Given the description of an element on the screen output the (x, y) to click on. 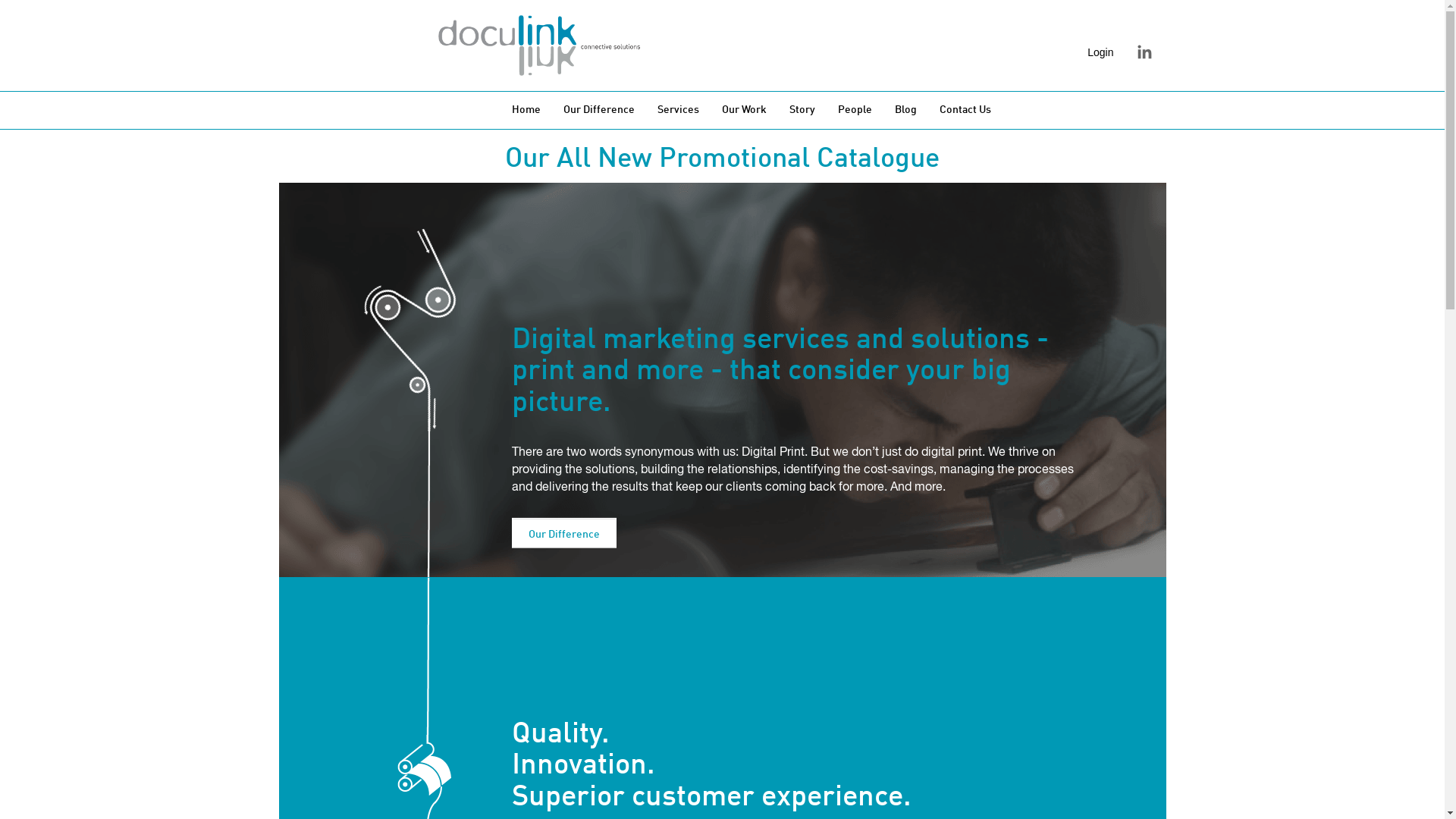
Our Work Element type: text (743, 109)
Our Difference Element type: text (563, 532)
Services Element type: text (678, 109)
Our All New Promotional Catalogue Element type: text (722, 158)
Story Element type: text (802, 109)
Home Element type: text (525, 109)
People Element type: text (854, 109)
Blog Element type: text (905, 109)
Our Difference Element type: text (598, 109)
Contact Us Element type: text (965, 109)
Login Element type: text (1100, 52)
